Given the description of an element on the screen output the (x, y) to click on. 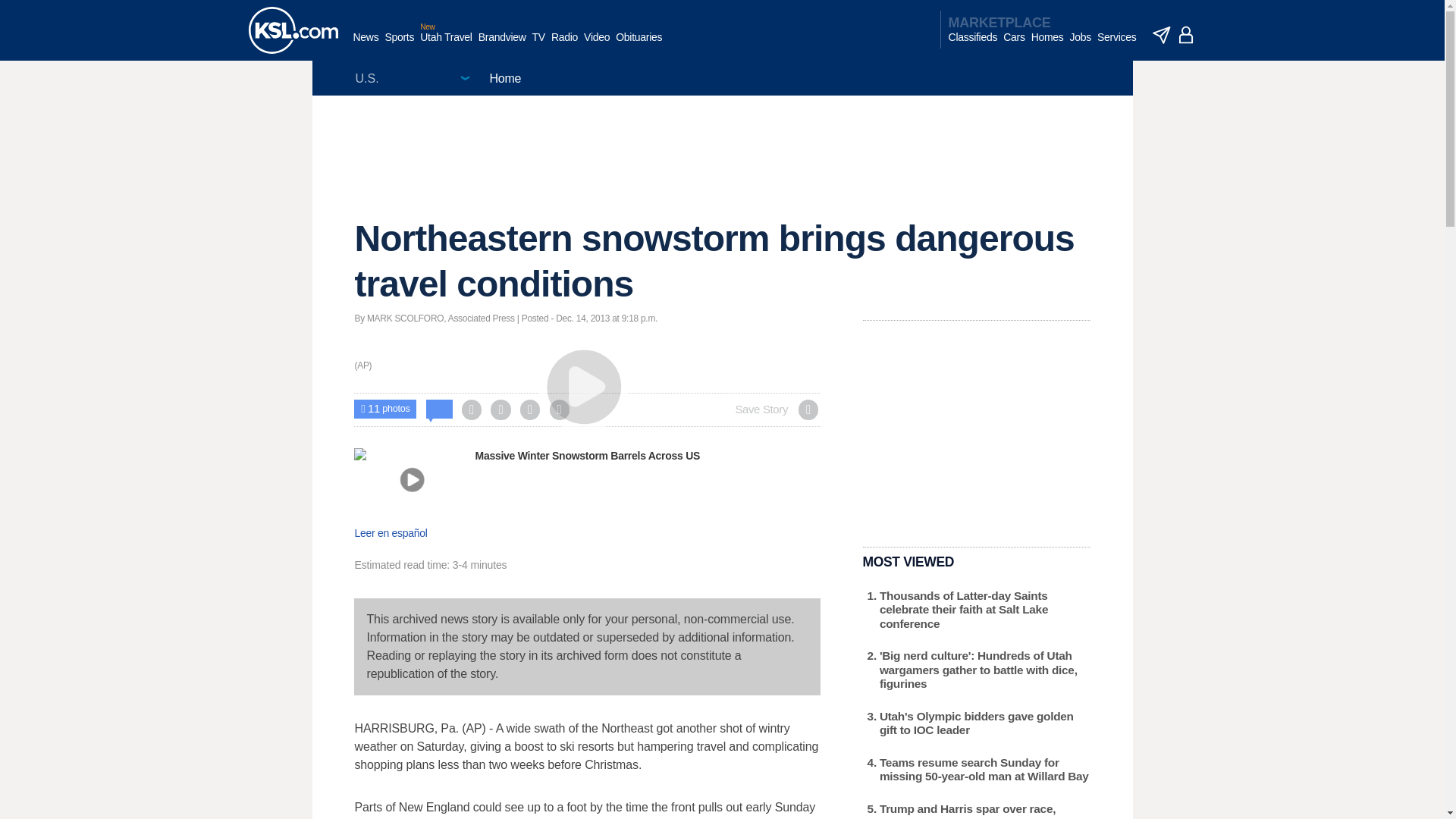
TV (538, 45)
Utah Travel (445, 45)
account - logged out (1185, 34)
Brandview (502, 45)
KSL homepage (292, 30)
Sports (398, 45)
KSL homepage (292, 29)
News (365, 45)
